Given the description of an element on the screen output the (x, y) to click on. 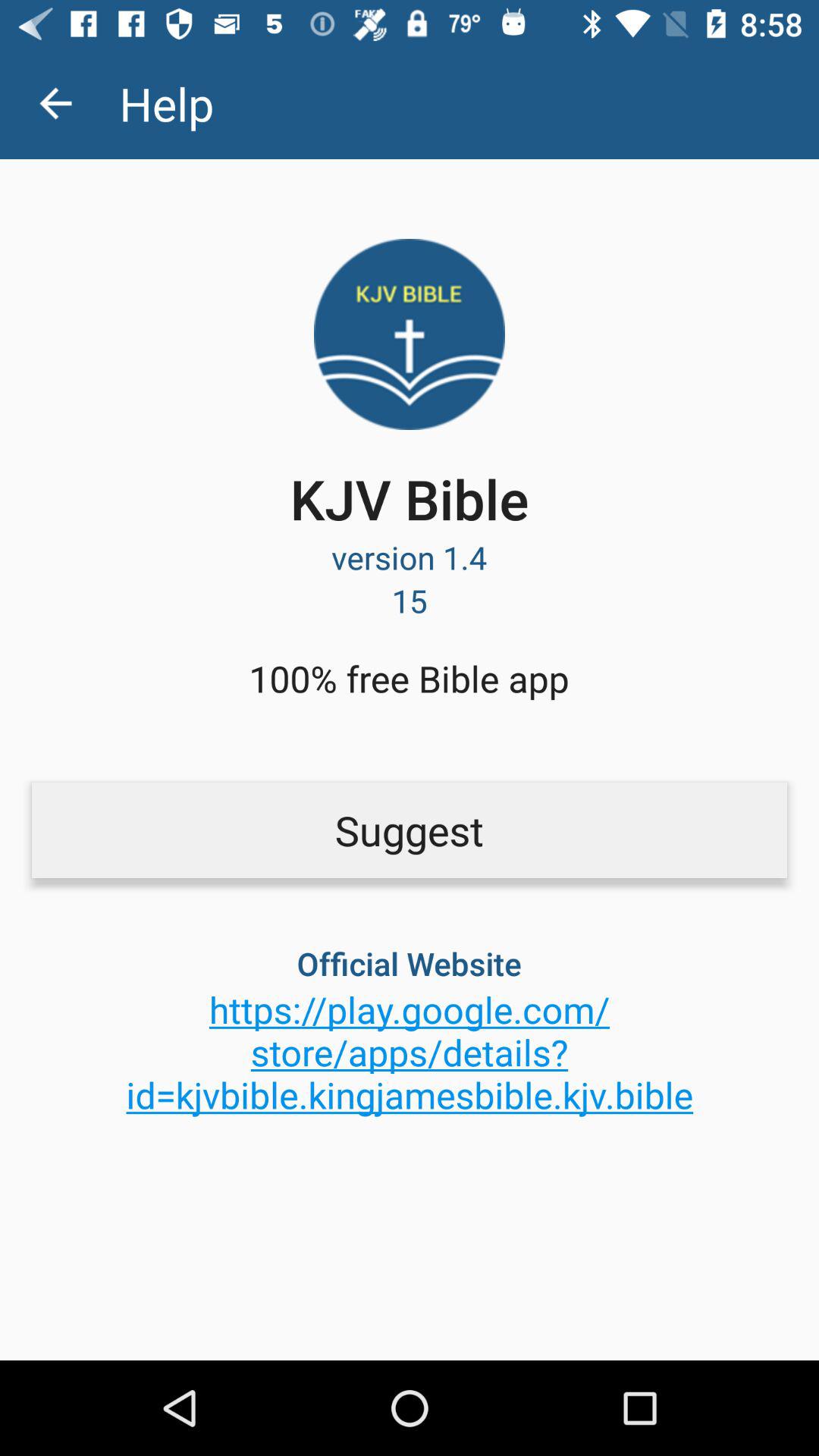
turn off the item above suggest (409, 678)
